Given the description of an element on the screen output the (x, y) to click on. 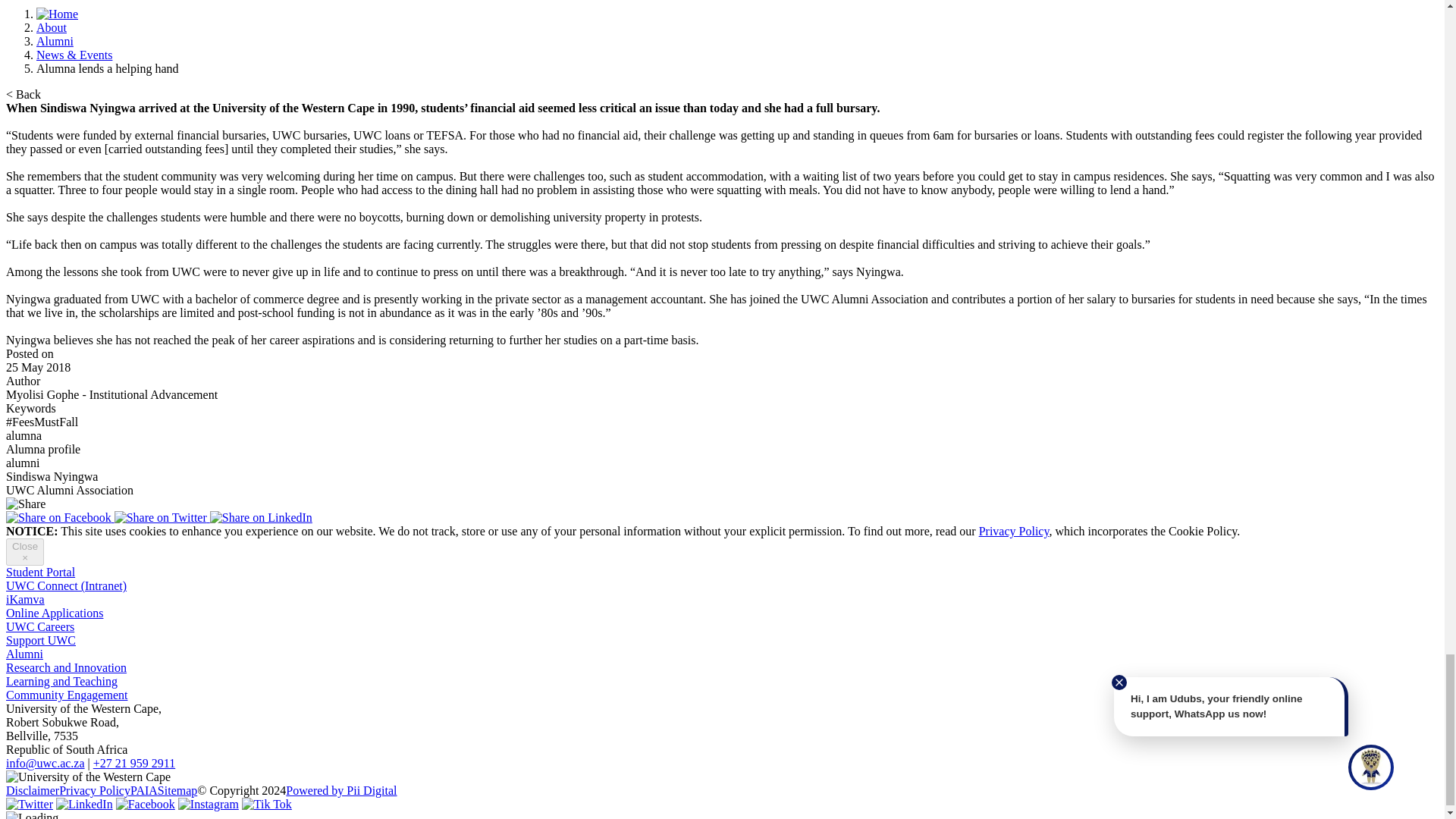
Facebook (60, 517)
Twitter (162, 517)
Linkedin (261, 517)
